Given the description of an element on the screen output the (x, y) to click on. 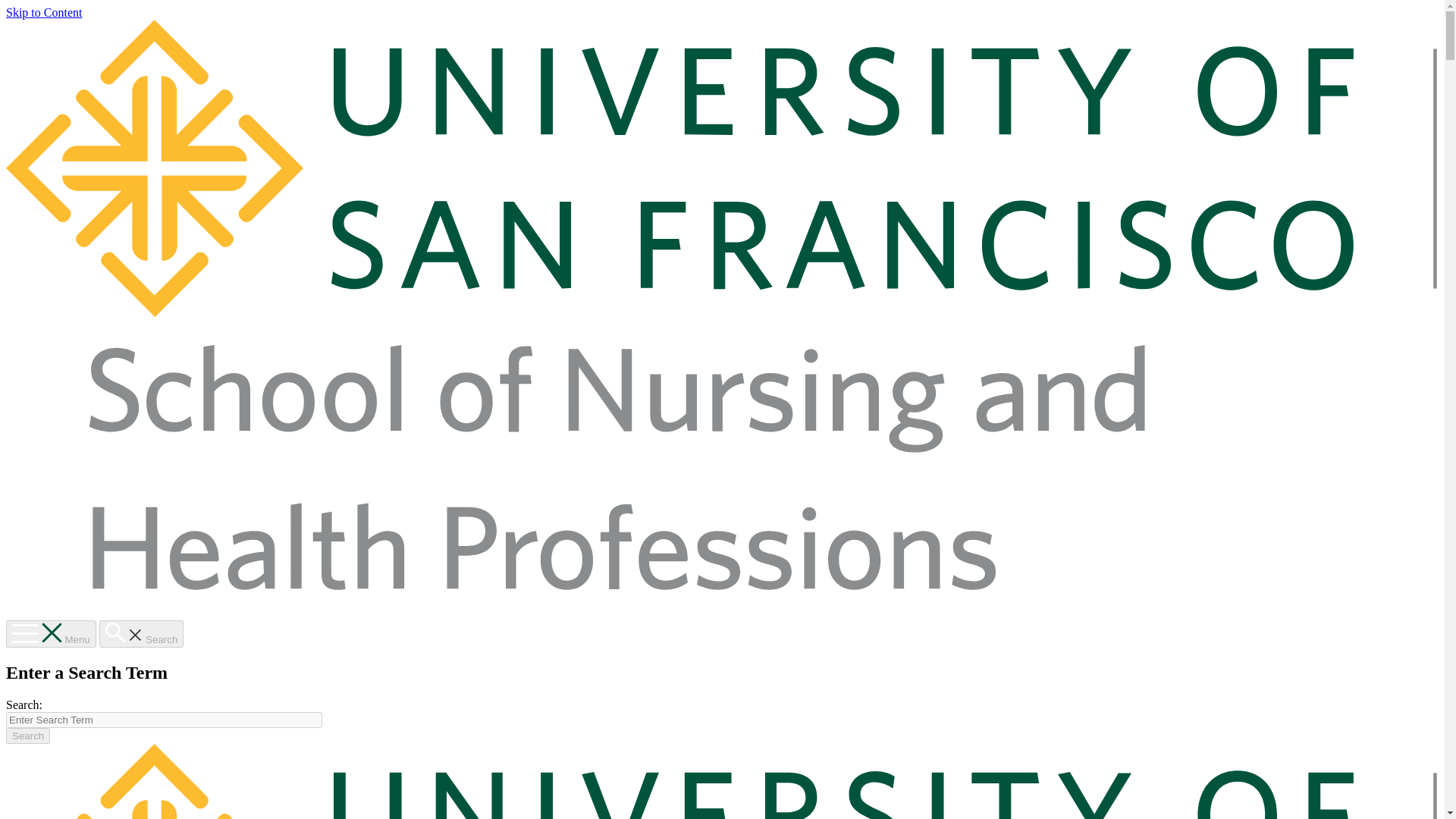
Menu (50, 633)
Search (141, 633)
Search (27, 735)
Skip to Content (43, 11)
Search (27, 735)
